Given the description of an element on the screen output the (x, y) to click on. 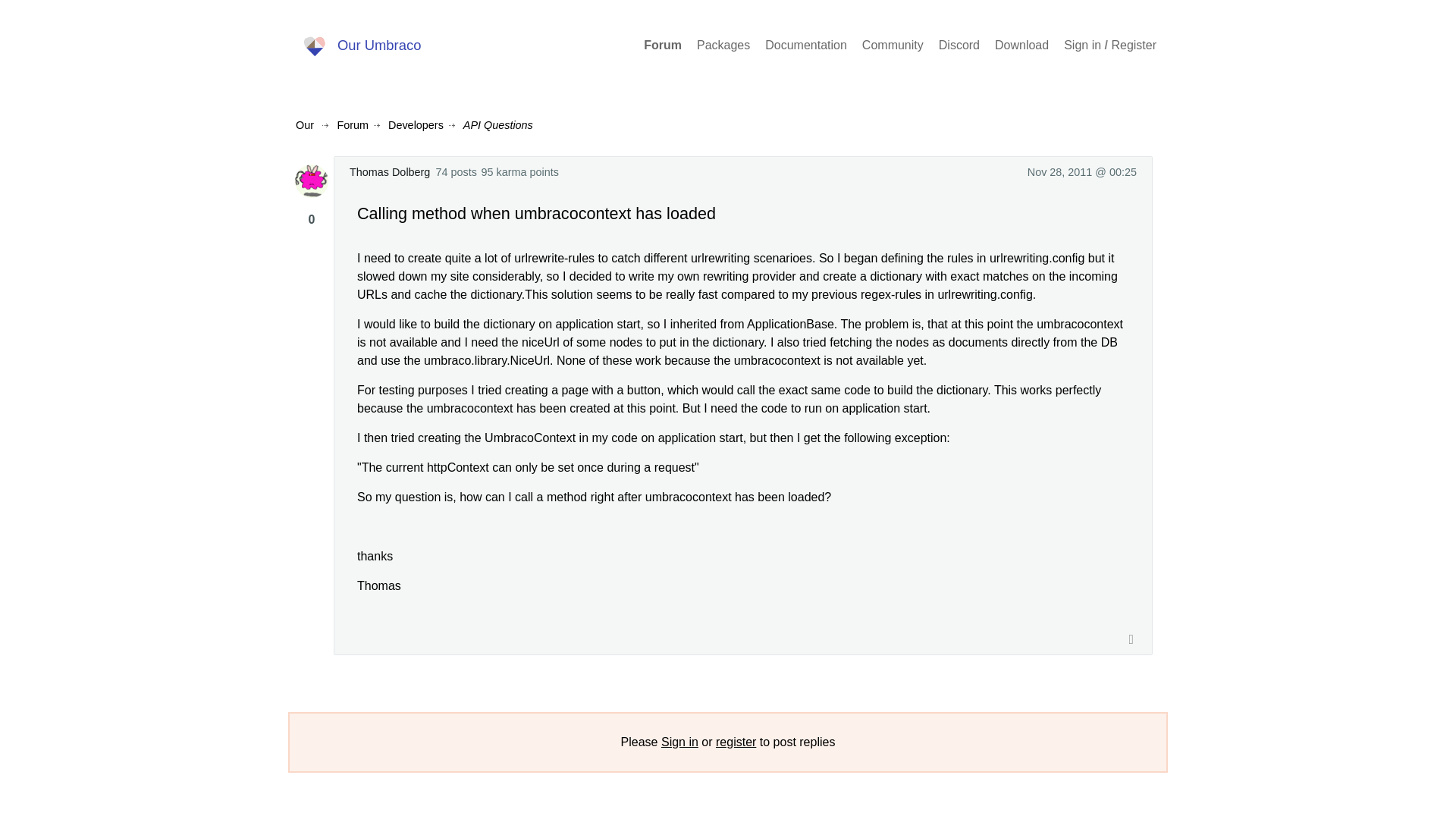
register (735, 741)
Thomas Dolberg (389, 172)
Forum (662, 45)
Discord (959, 45)
Our (304, 124)
Our Umbraco (359, 44)
Forum (352, 124)
Sign in (1082, 45)
Packages (723, 45)
Sign in (679, 741)
